Given the description of an element on the screen output the (x, y) to click on. 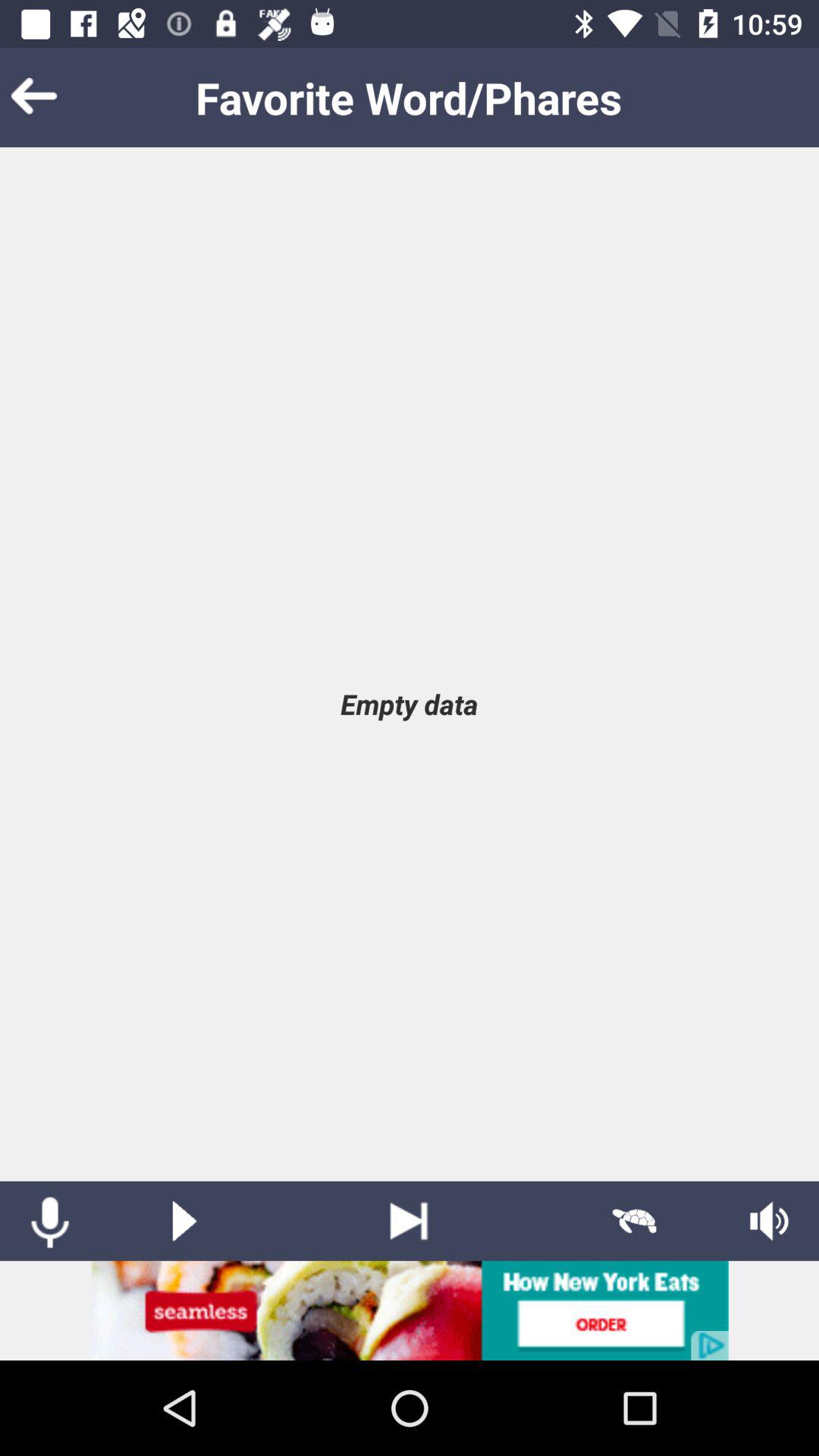
connect to link (409, 1310)
